Given the description of an element on the screen output the (x, y) to click on. 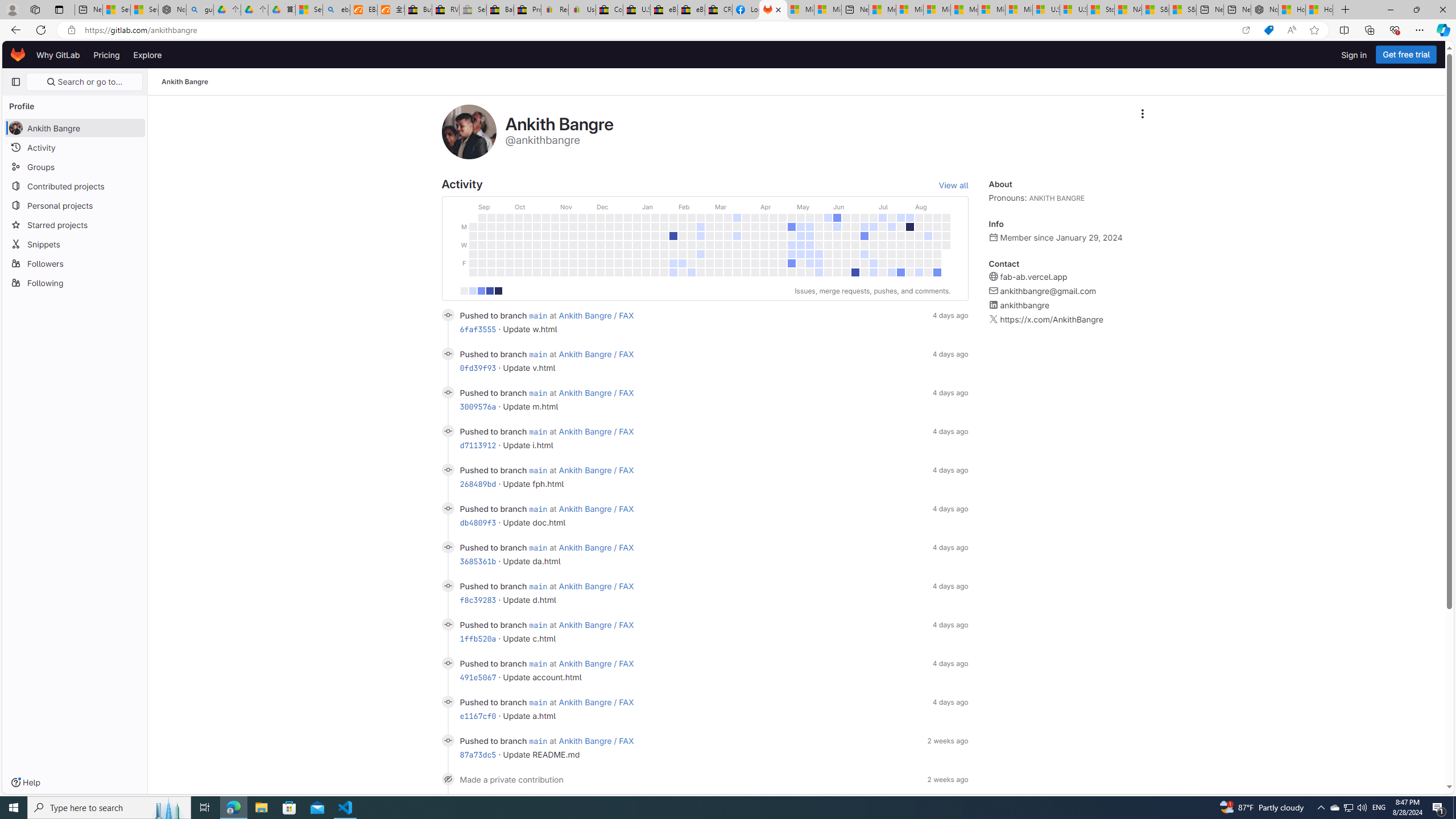
main (537, 741)
20-29 contributions (489, 290)
Snippets (74, 244)
Log into Facebook (746, 9)
How to Use a Monitor With Your Closed Laptop (1319, 9)
